Given the description of an element on the screen output the (x, y) to click on. 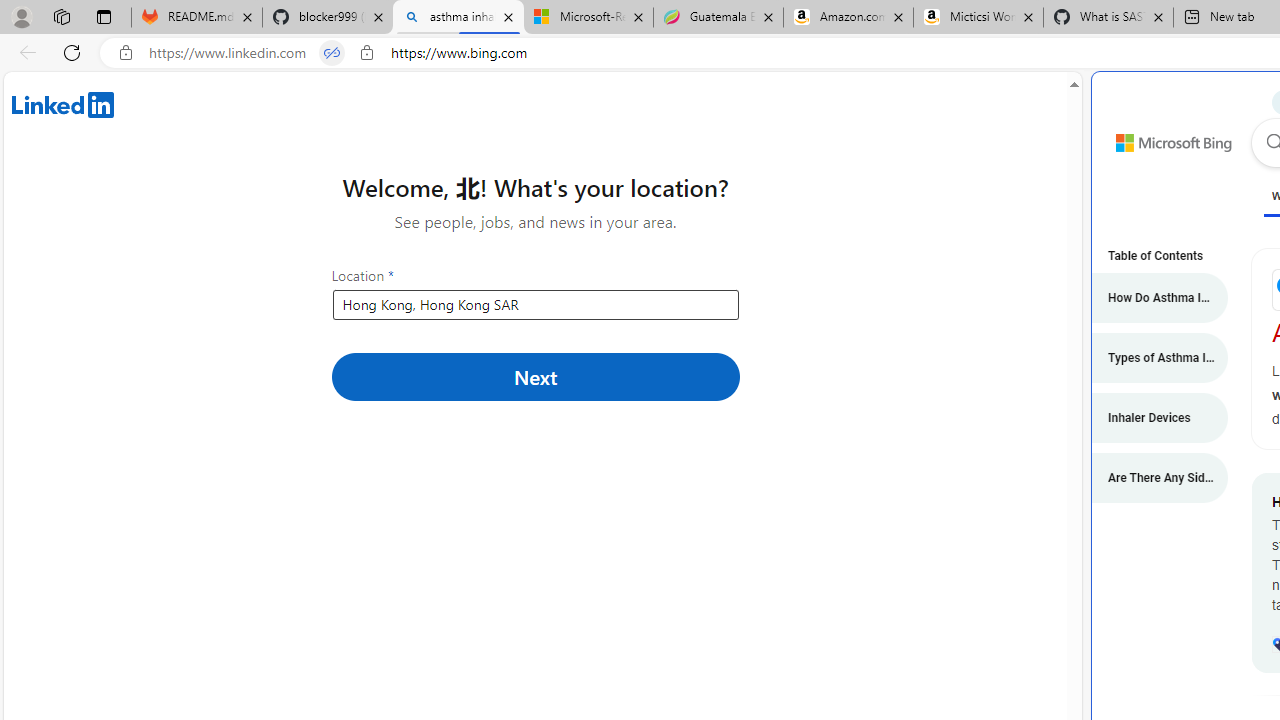
Types of Asthma Inhalers (1149, 357)
asthma inhaler - Search (458, 17)
Are There Any Side-Effects from Asthma Inhalers? (1149, 477)
Tabs in split screen (331, 53)
